Given the description of an element on the screen output the (x, y) to click on. 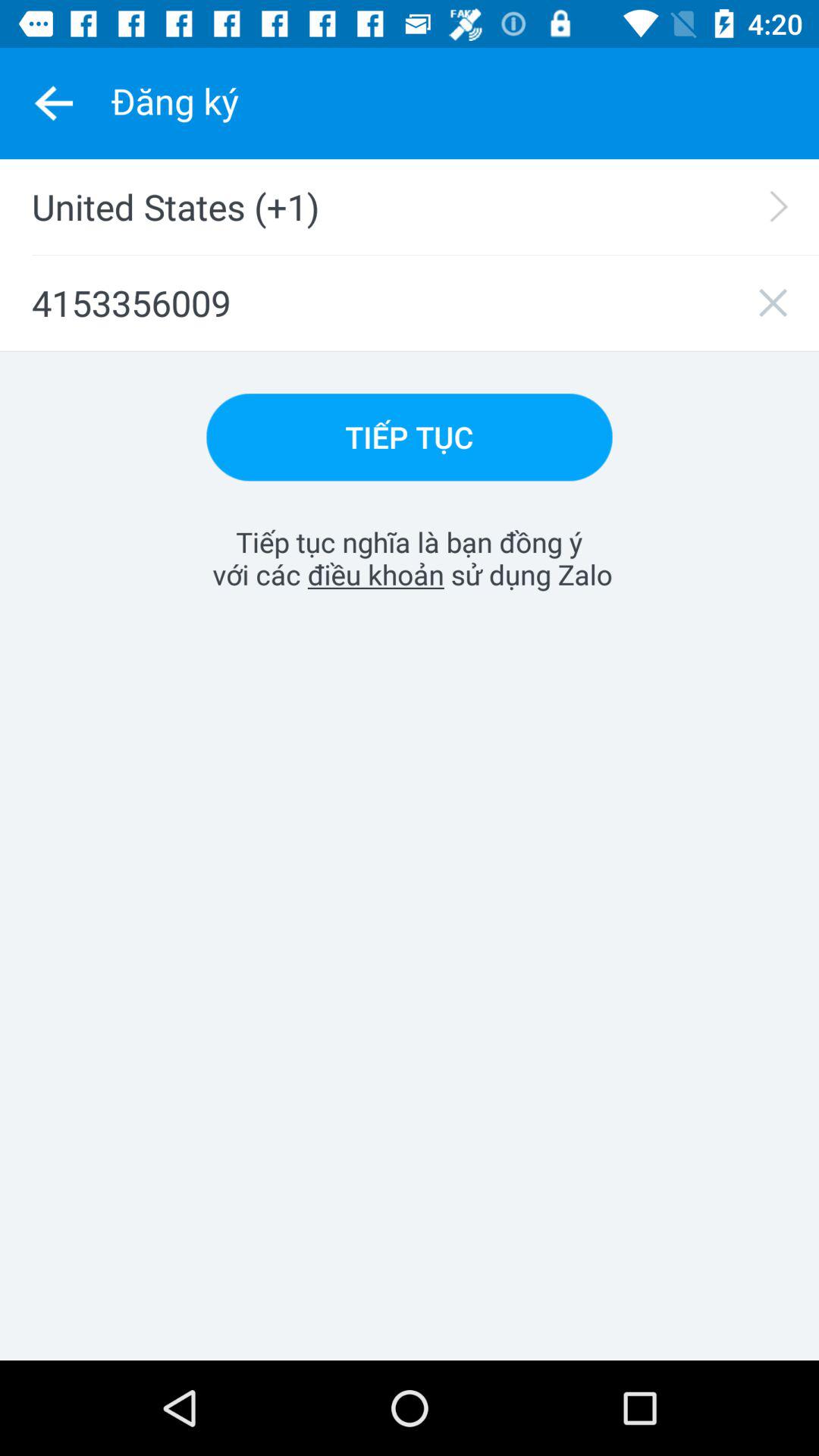
click 4153356009 icon (409, 302)
